Given the description of an element on the screen output the (x, y) to click on. 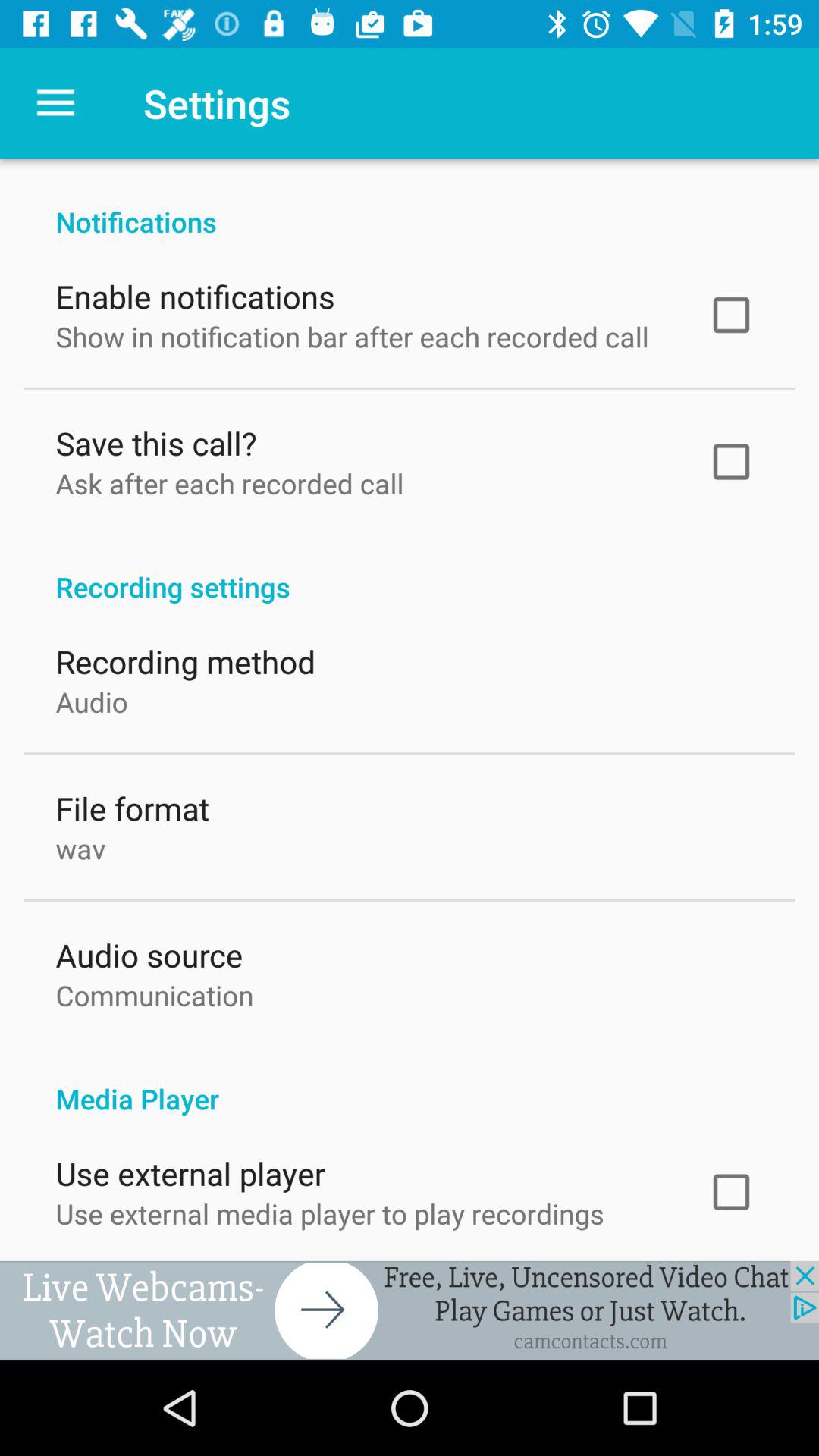
tap the enable notifications icon (194, 292)
